Given the description of an element on the screen output the (x, y) to click on. 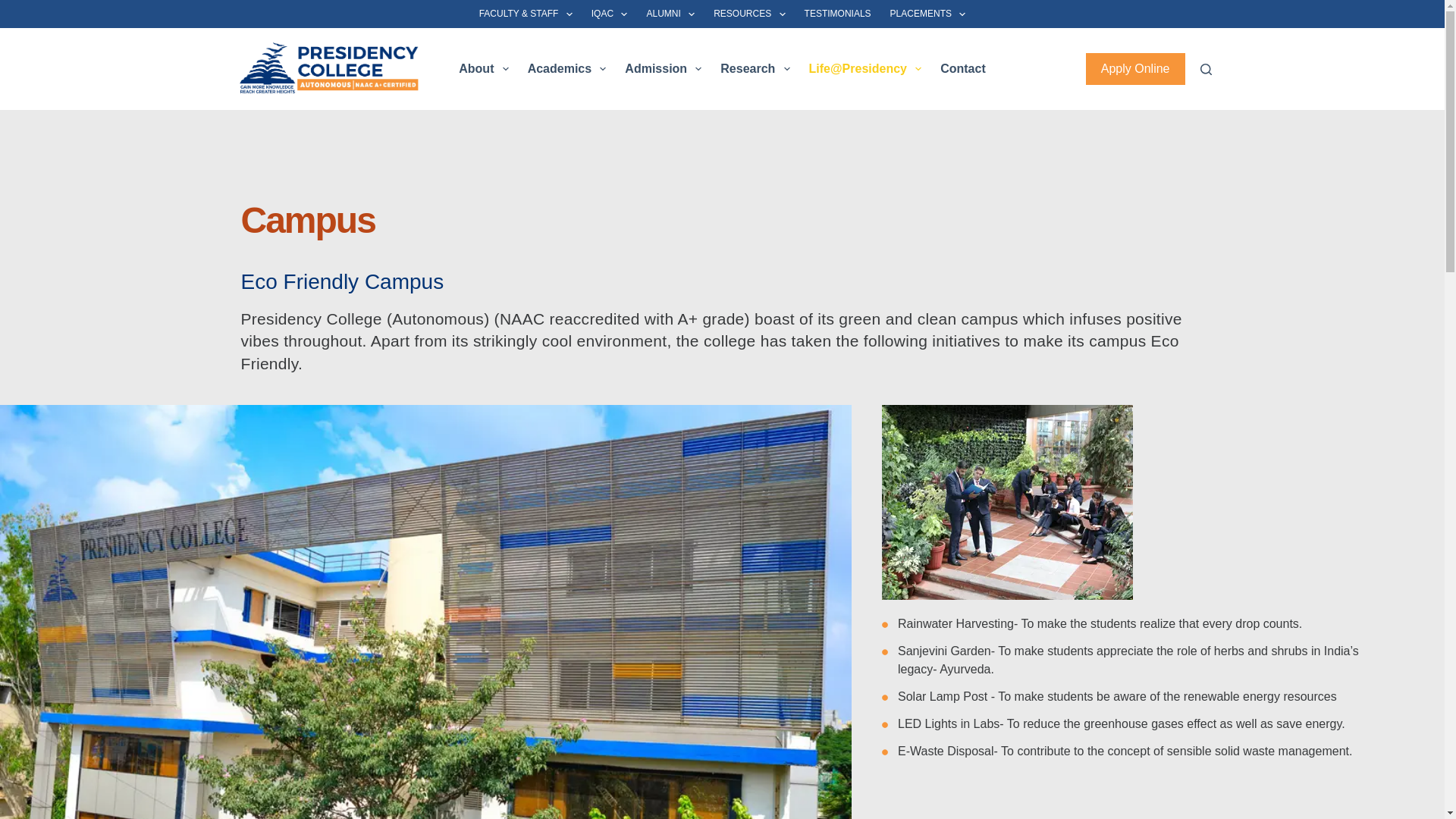
Skip to content (15, 7)
